Given the description of an element on the screen output the (x, y) to click on. 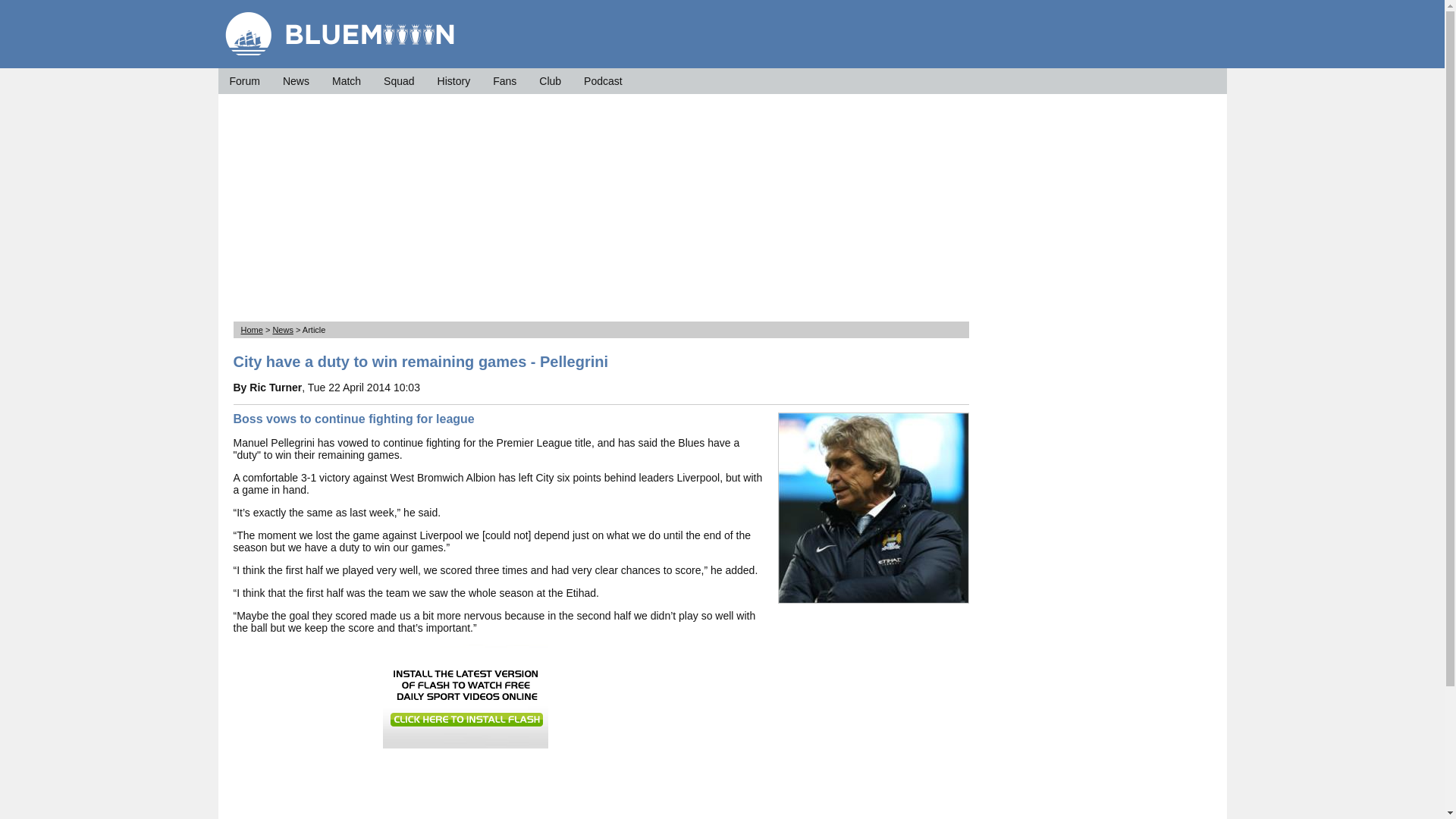
History (454, 80)
Squad (398, 80)
News (295, 80)
Match (346, 80)
Home (252, 329)
Forum (243, 80)
News (283, 329)
